Given the description of an element on the screen output the (x, y) to click on. 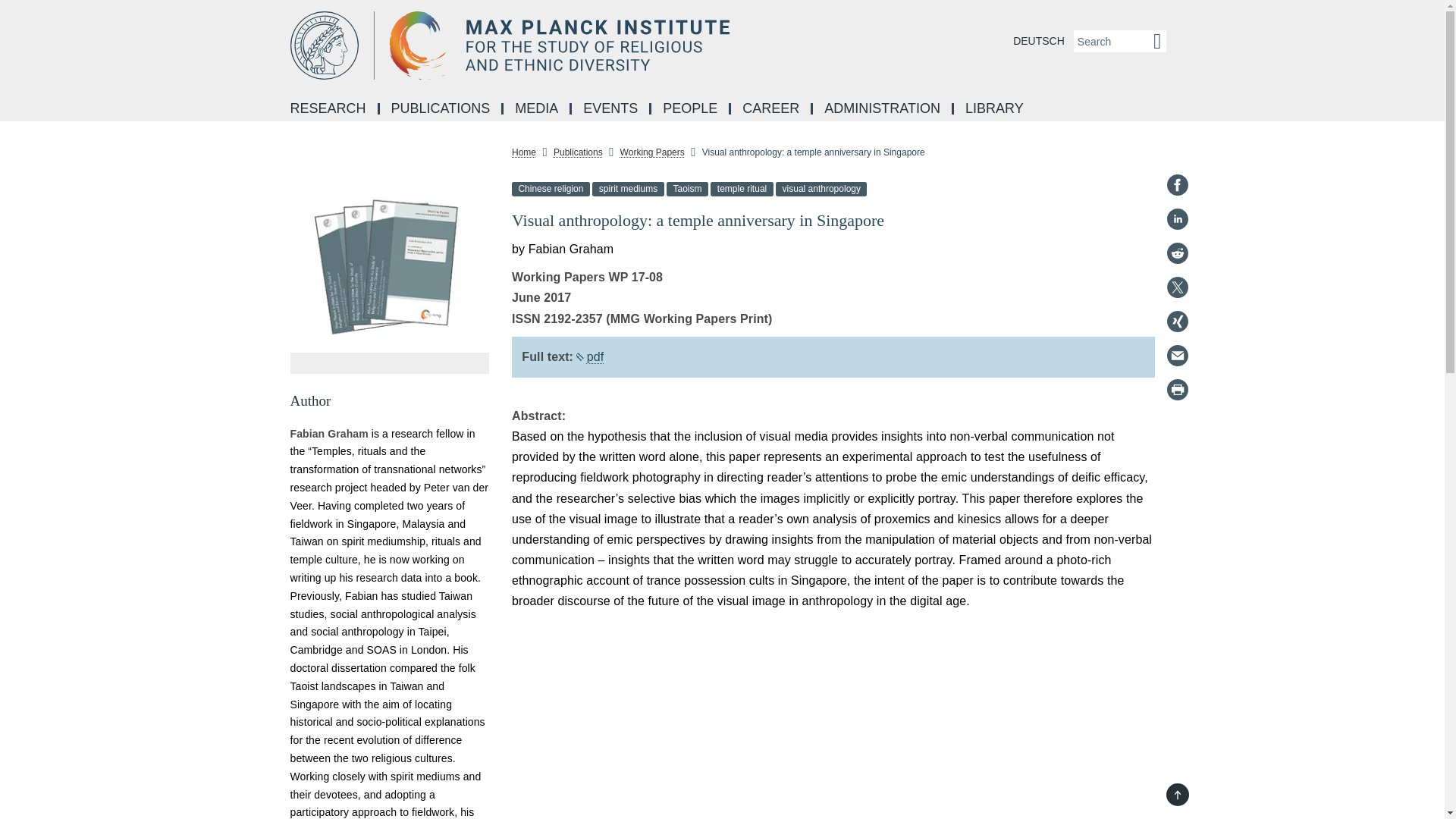
E-Mail (1177, 354)
Print (1177, 389)
RESEARCH (329, 108)
Xing (1177, 321)
Twitter (1177, 287)
LinkedIn (1177, 219)
Facebook (1177, 184)
Reddit (1177, 252)
opens zoom view (389, 267)
DEUTSCH (1038, 41)
